Given the description of an element on the screen output the (x, y) to click on. 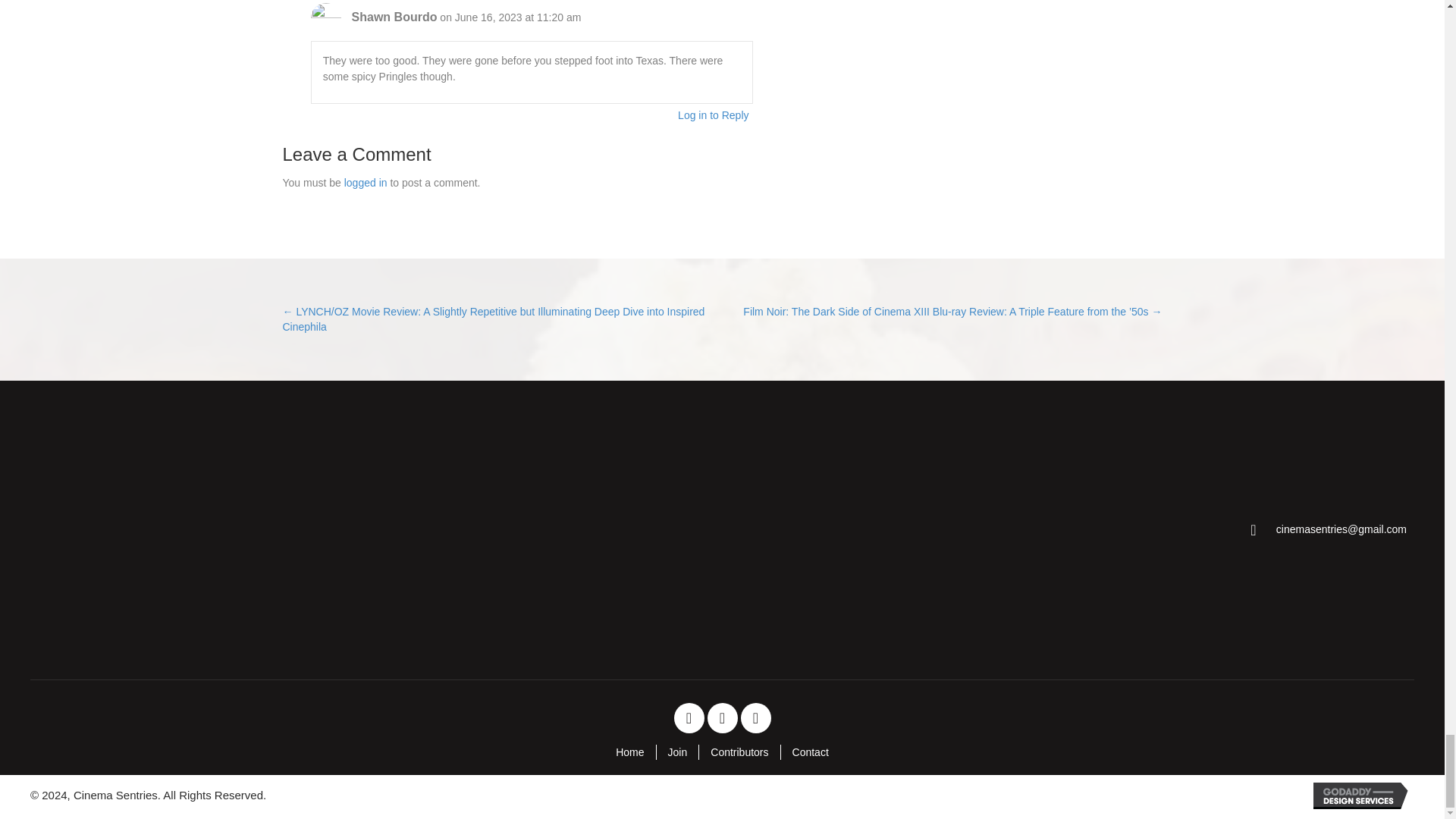
Twitter (721, 717)
logged in (365, 182)
Instagram (754, 717)
Cinema Sentries (148, 530)
Log in to Reply (713, 114)
Facebook (687, 717)
